Given the description of an element on the screen output the (x, y) to click on. 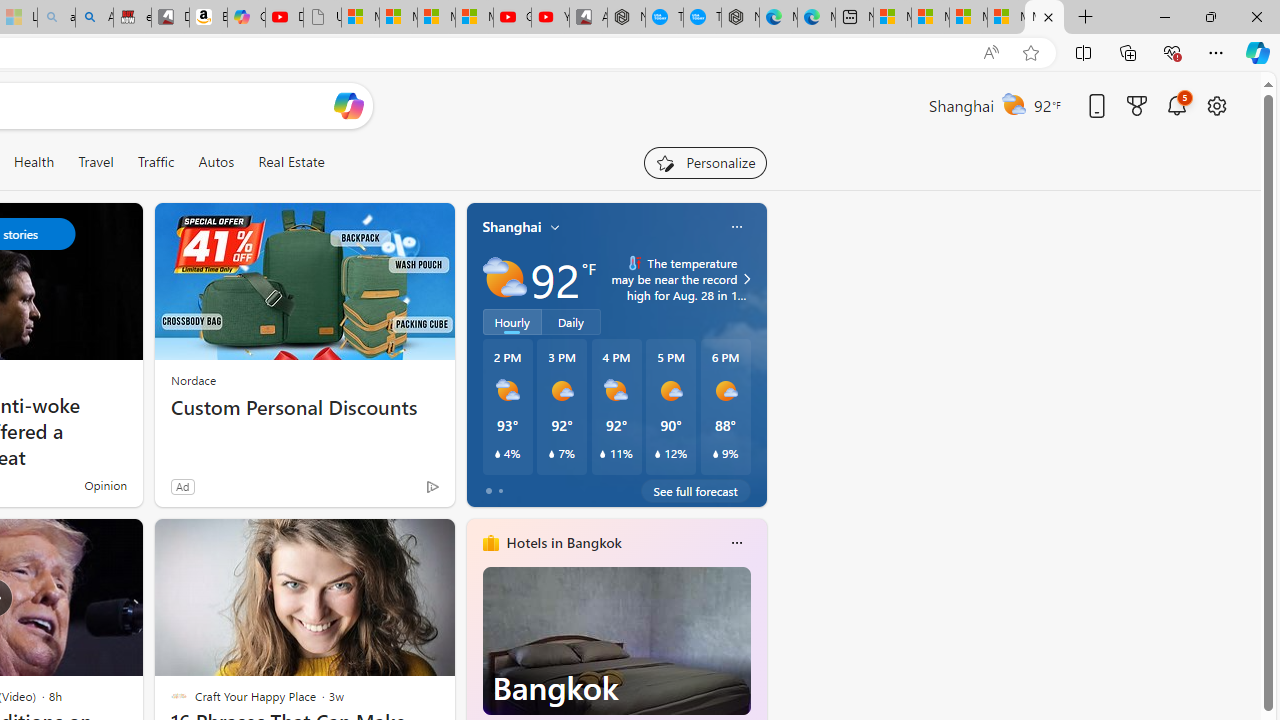
Class: weather-arrow-glyph (746, 278)
Class: weather-current-precipitation-glyph (715, 453)
Hotels in Bangkok (563, 543)
hotels-header-icon (490, 542)
Custom Personal Discounts (304, 407)
